Given the description of an element on the screen output the (x, y) to click on. 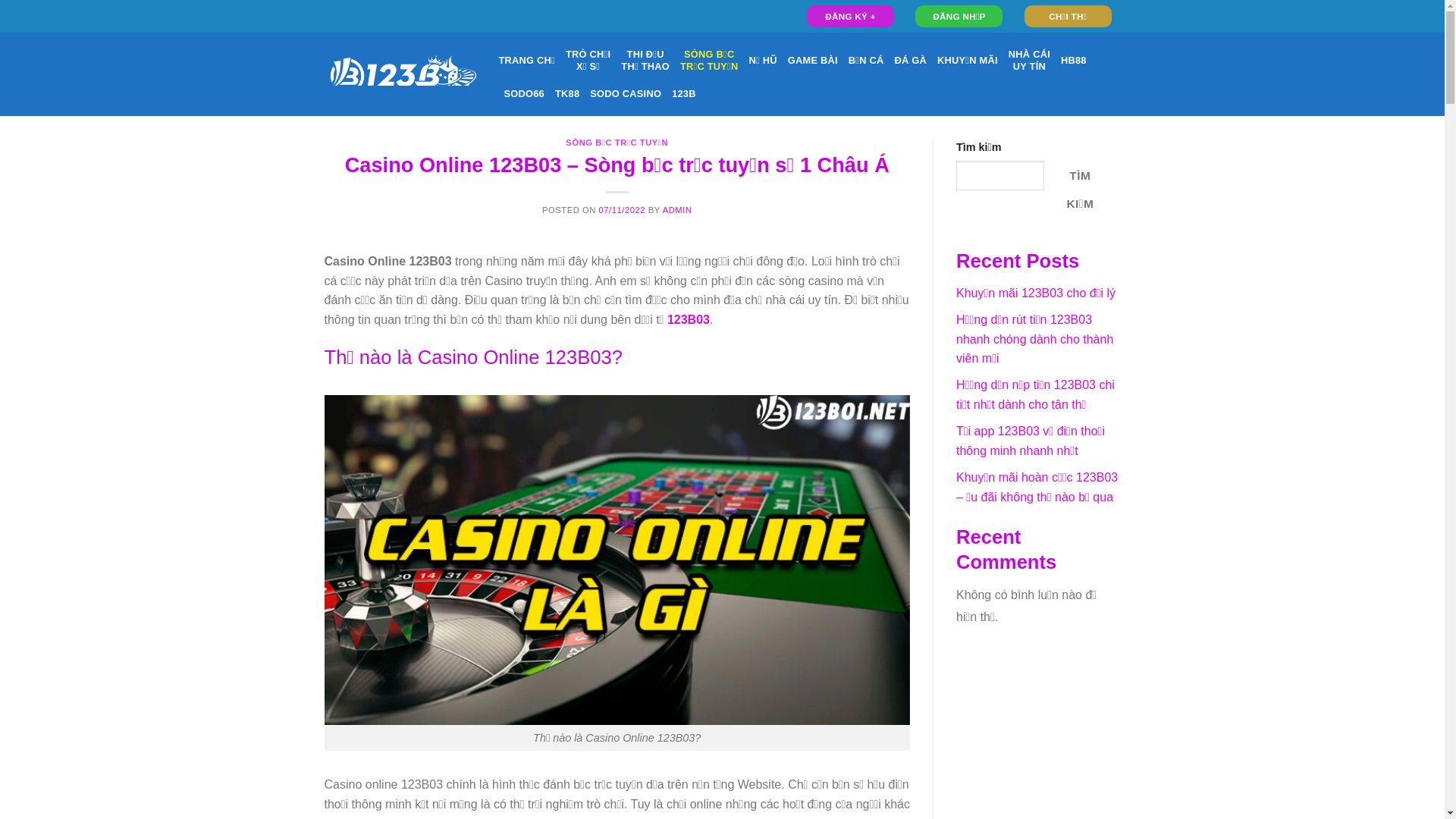
SODO66 Element type: text (523, 93)
SODO CASINO Element type: text (625, 93)
TK88 Element type: text (567, 93)
ADMIN Element type: text (677, 209)
HB88 Element type: text (1073, 60)
123B Element type: text (683, 93)
123B03 Element type: text (688, 319)
07/11/2022 Element type: text (622, 209)
